Given the description of an element on the screen output the (x, y) to click on. 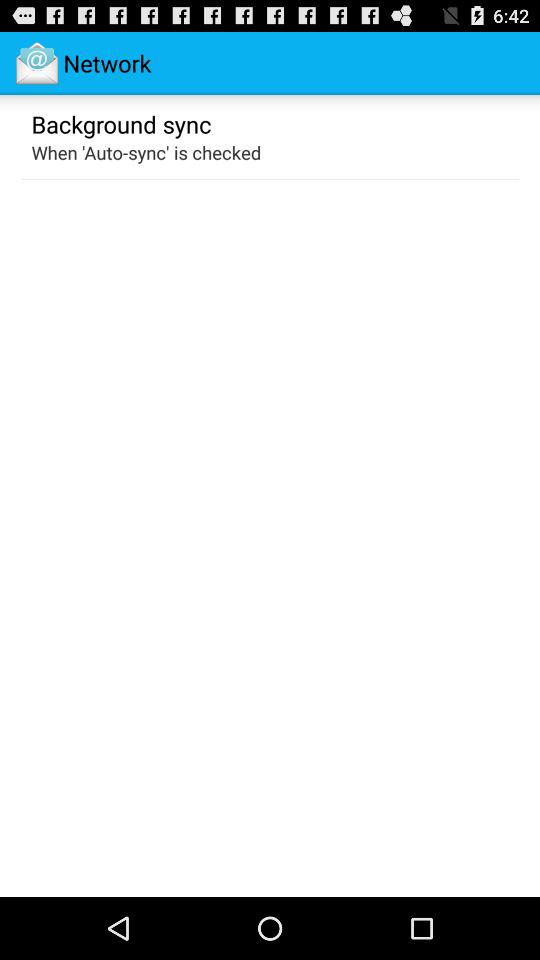
choose the background sync (121, 123)
